Given the description of an element on the screen output the (x, y) to click on. 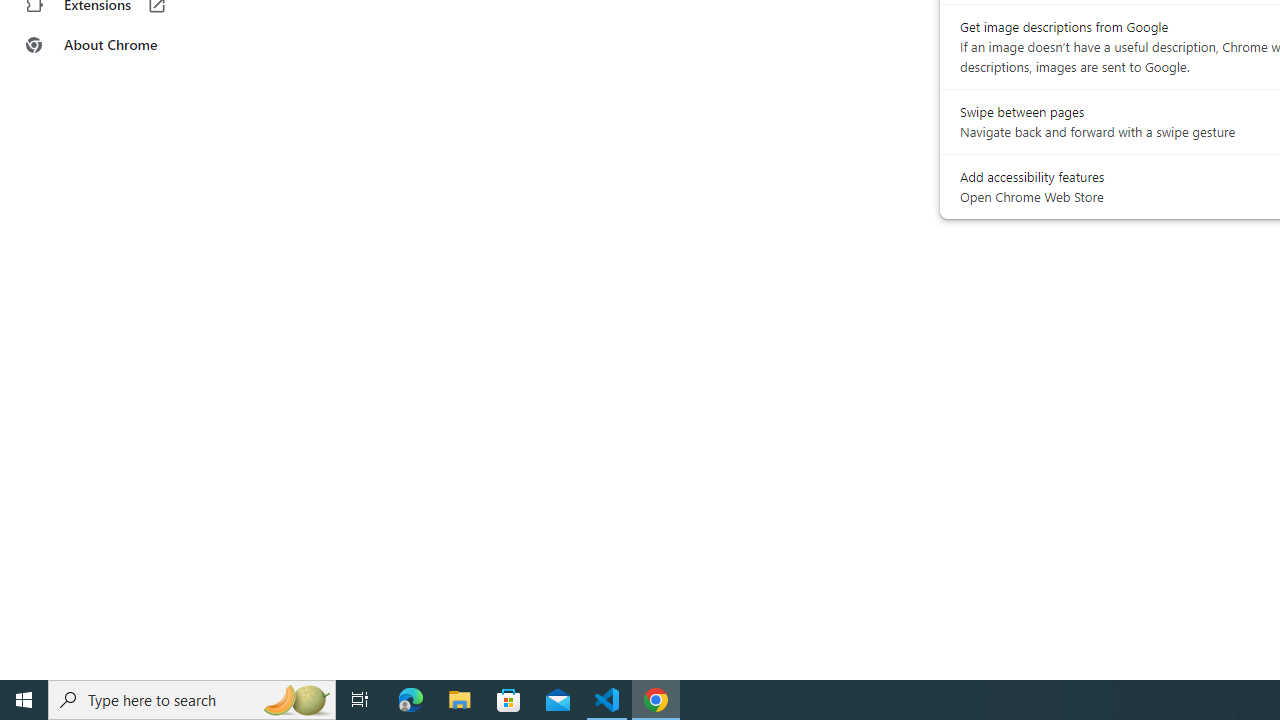
About Chrome (124, 44)
